Given the description of an element on the screen output the (x, y) to click on. 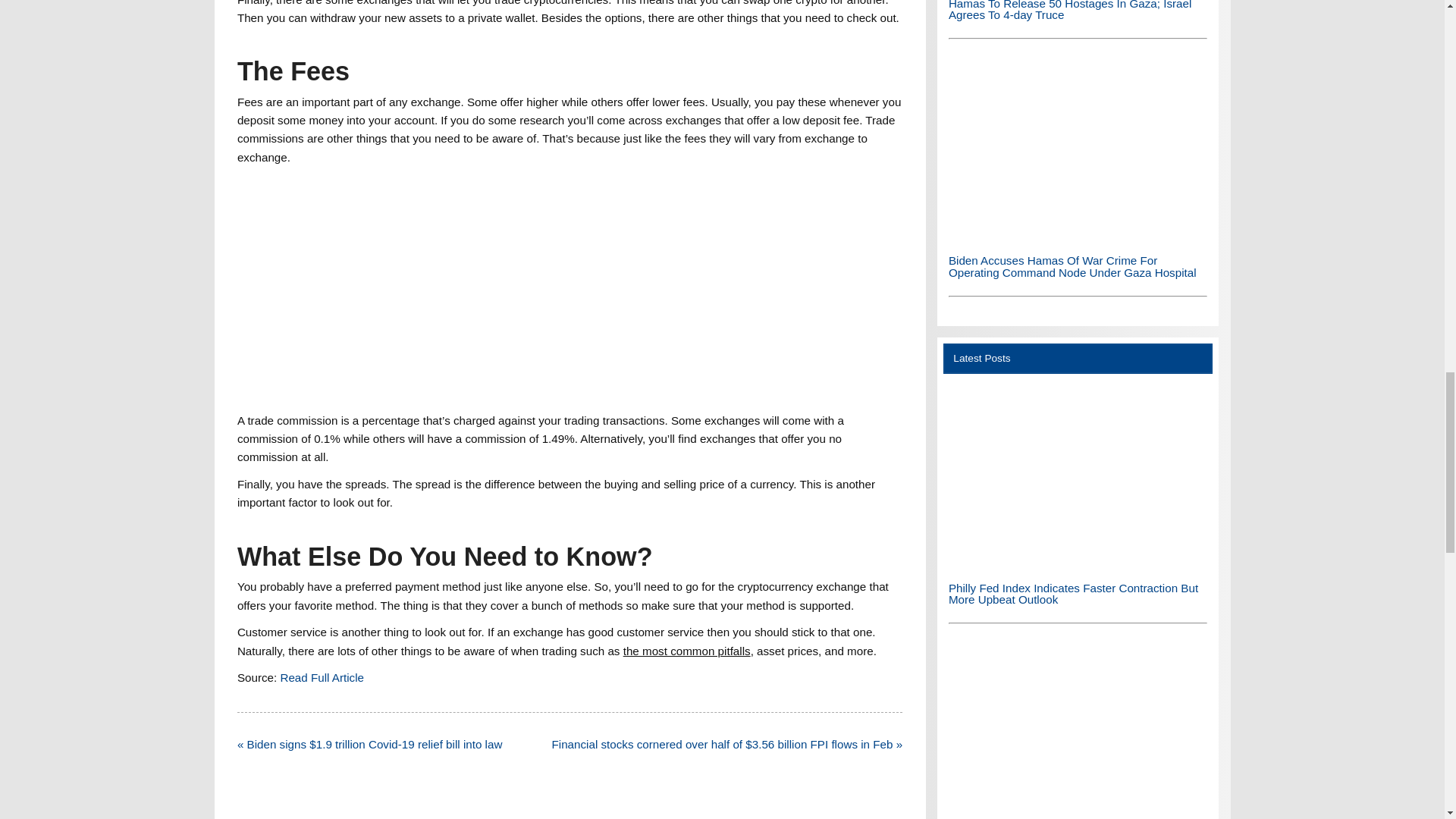
Read Full Article (321, 676)
